Given the description of an element on the screen output the (x, y) to click on. 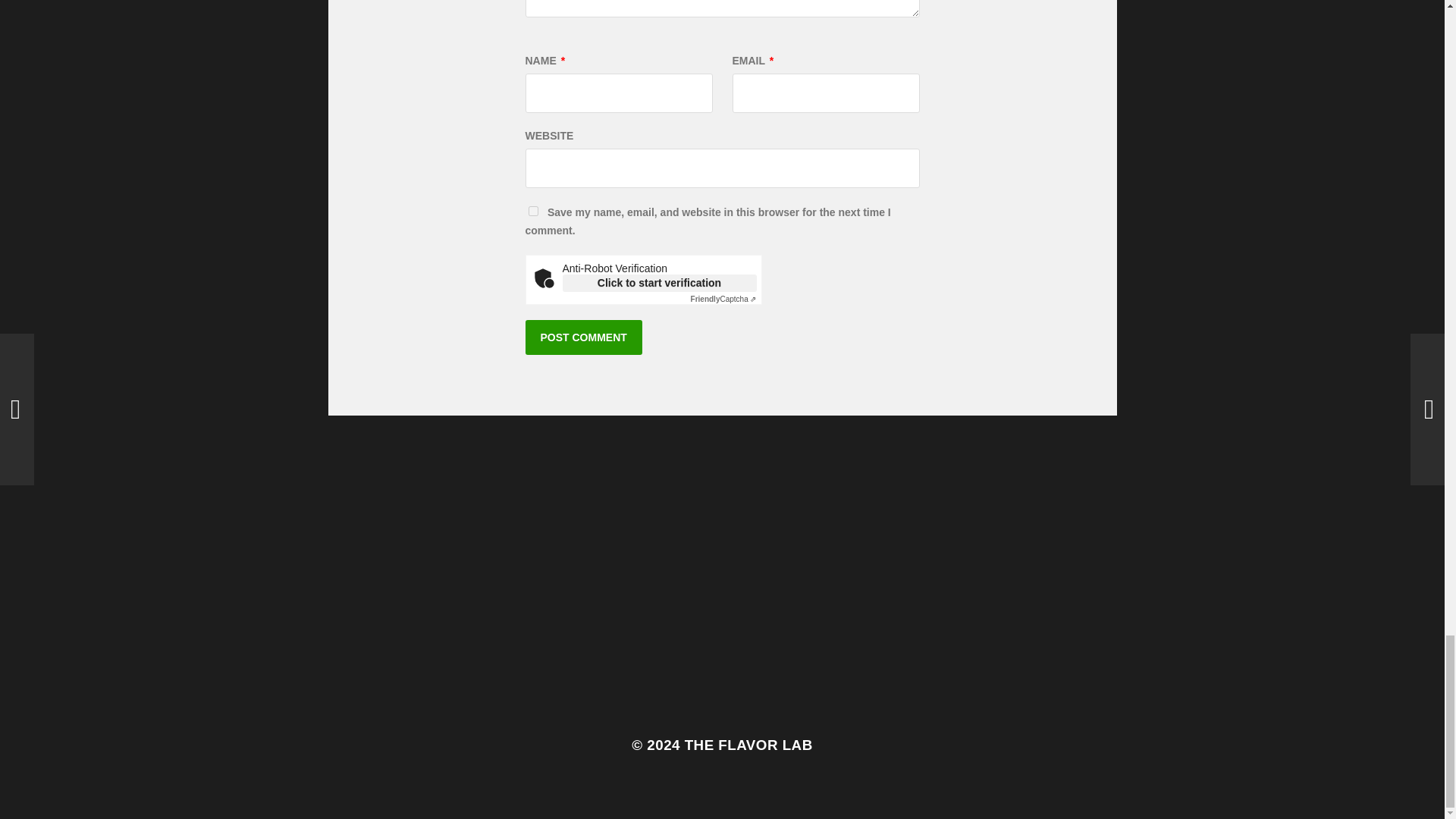
Post Comment (583, 337)
yes (532, 211)
